Given the description of an element on the screen output the (x, y) to click on. 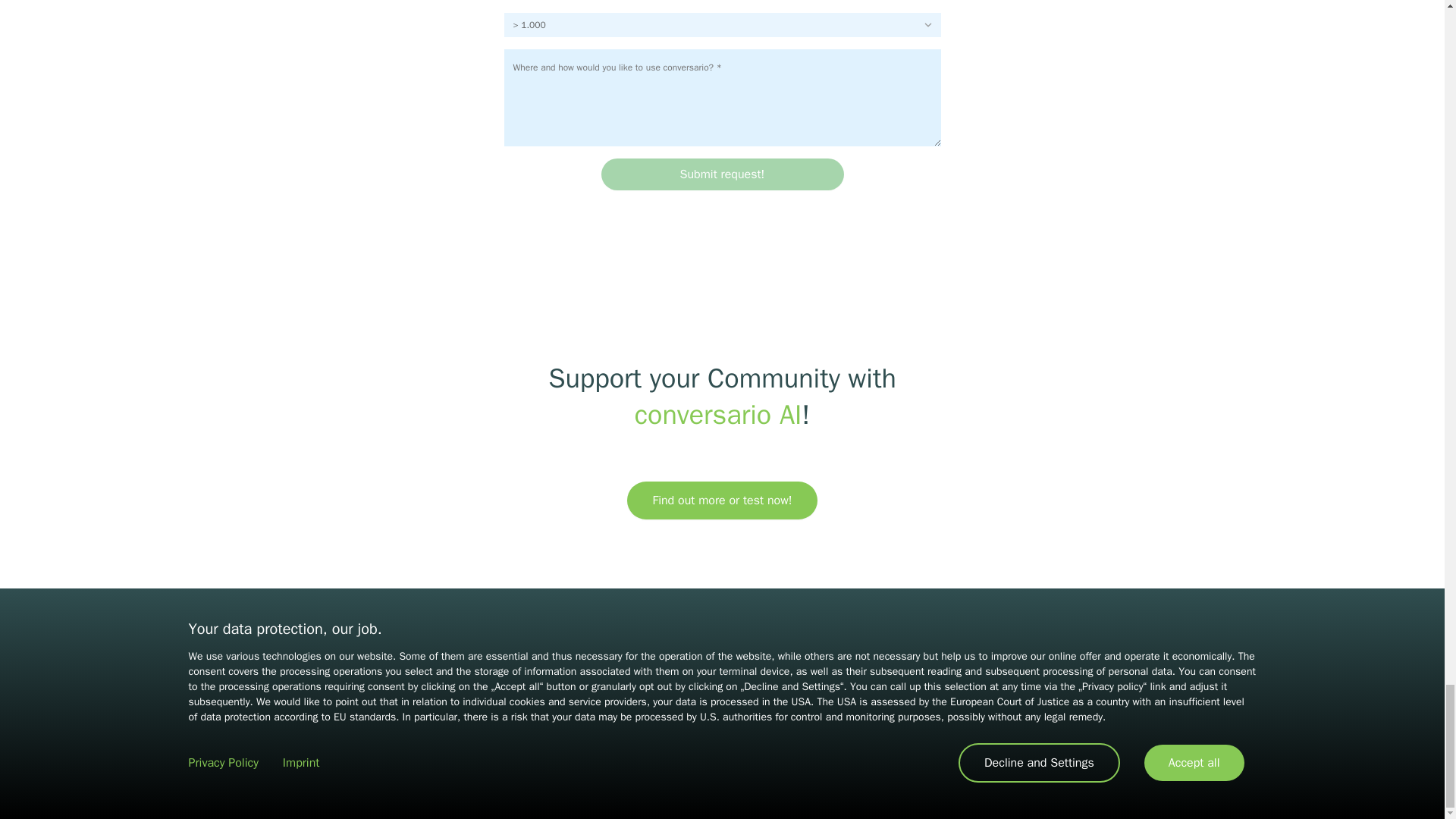
Terms of Service (620, 733)
Privacy (702, 733)
Find out more or test now! (721, 500)
LinkedIn (722, 656)
Legal (751, 733)
Cookie Settings (825, 733)
Submit request! (721, 174)
